Given the description of an element on the screen output the (x, y) to click on. 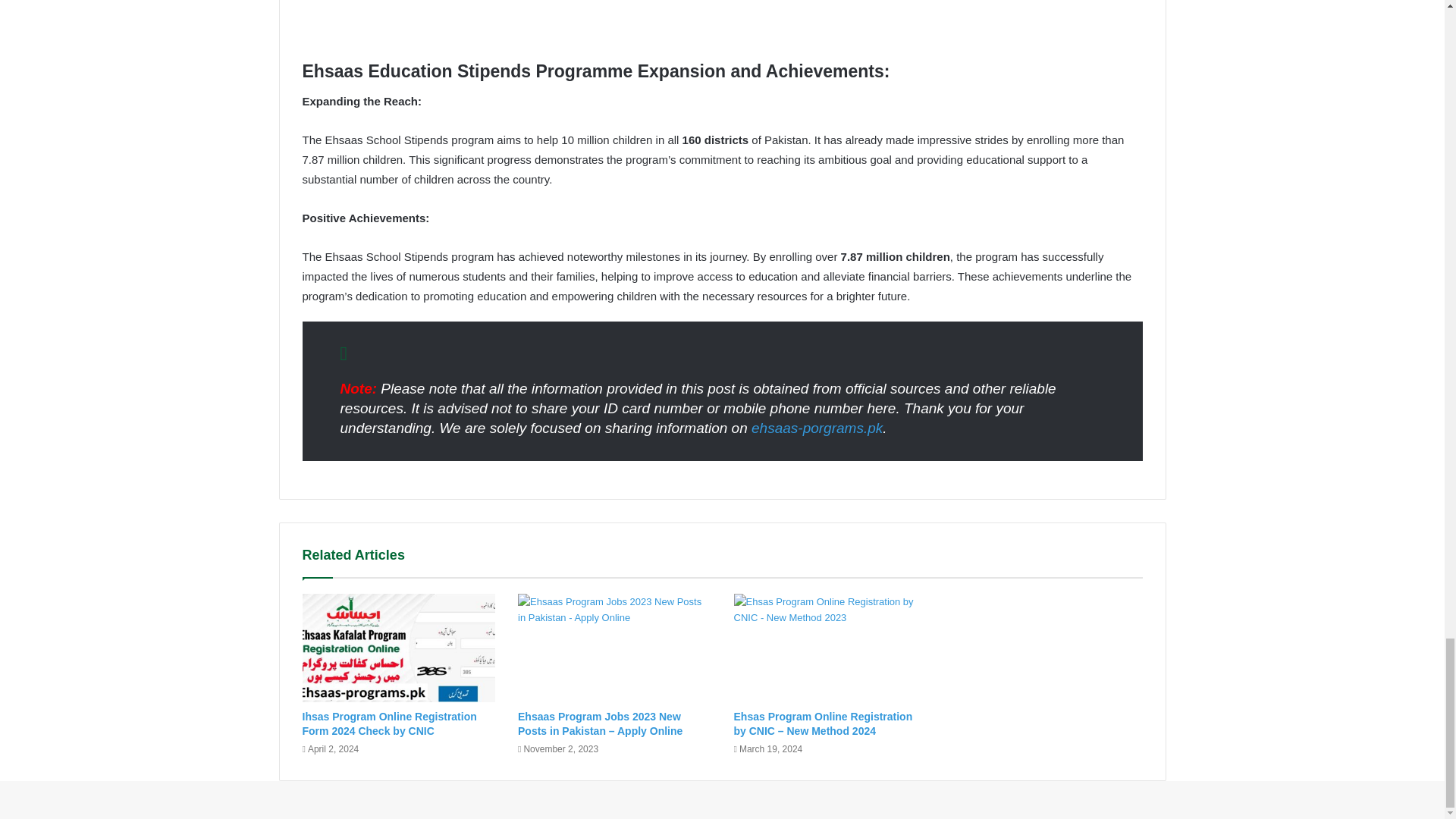
Ihsas Program Online Registration Form 2024 Check by CNIC (388, 723)
ehsaas-porgrams.pk (816, 427)
